Given the description of an element on the screen output the (x, y) to click on. 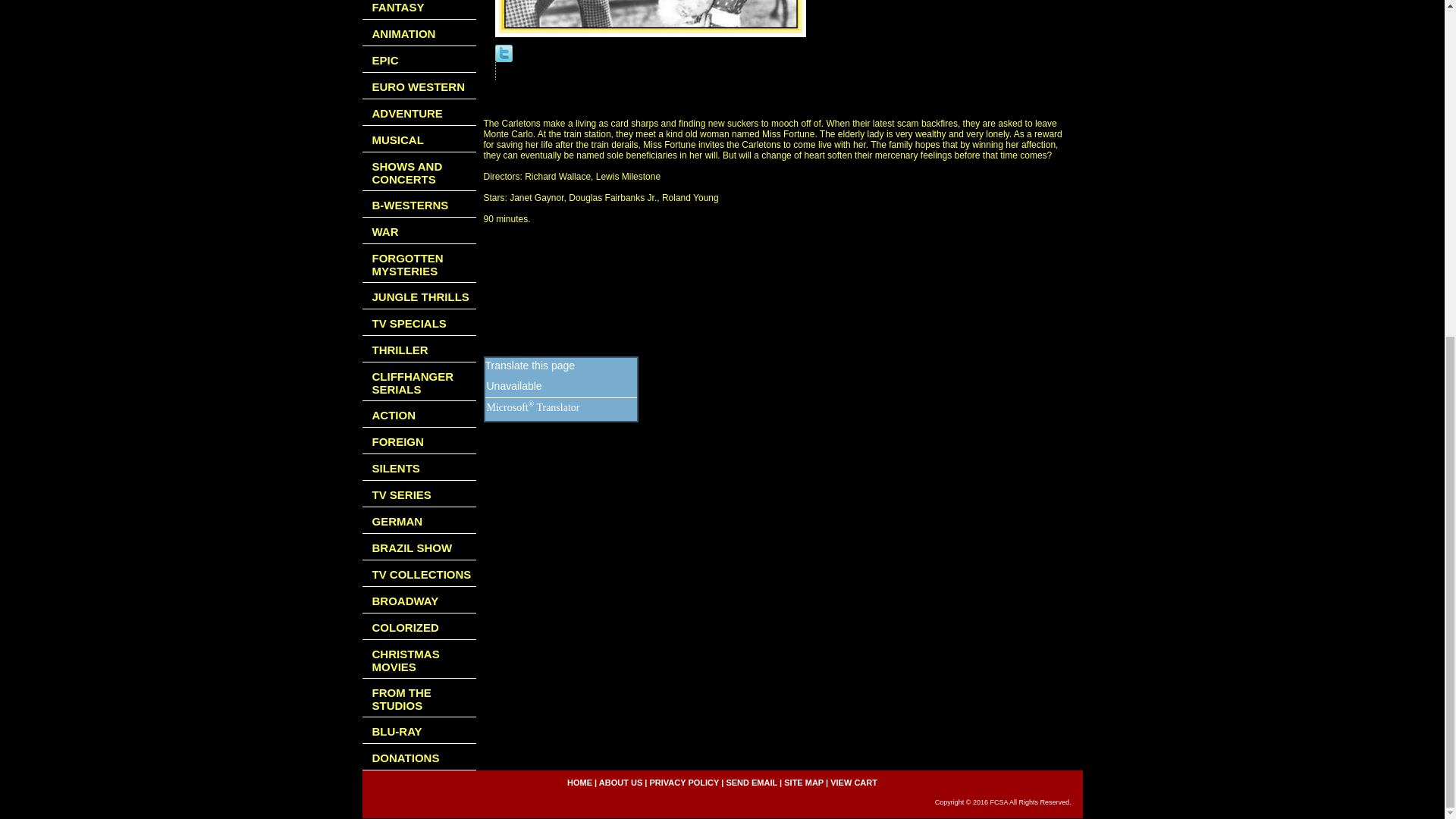
SILENTS (419, 467)
FANTASY (419, 9)
B-WESTERNS (419, 203)
CLIFFHANGER SERIALS (419, 381)
End of support for Translator web widget (513, 386)
THRILLER (419, 348)
ANIMATION (419, 32)
FANTASY (419, 9)
FOREIGN (419, 440)
ADVENTURE (419, 112)
ANIMATION (419, 32)
WAR (419, 230)
ACTION (419, 414)
TV SPECIALS (419, 322)
FORGOTTEN MYSTERIES (419, 263)
